Given the description of an element on the screen output the (x, y) to click on. 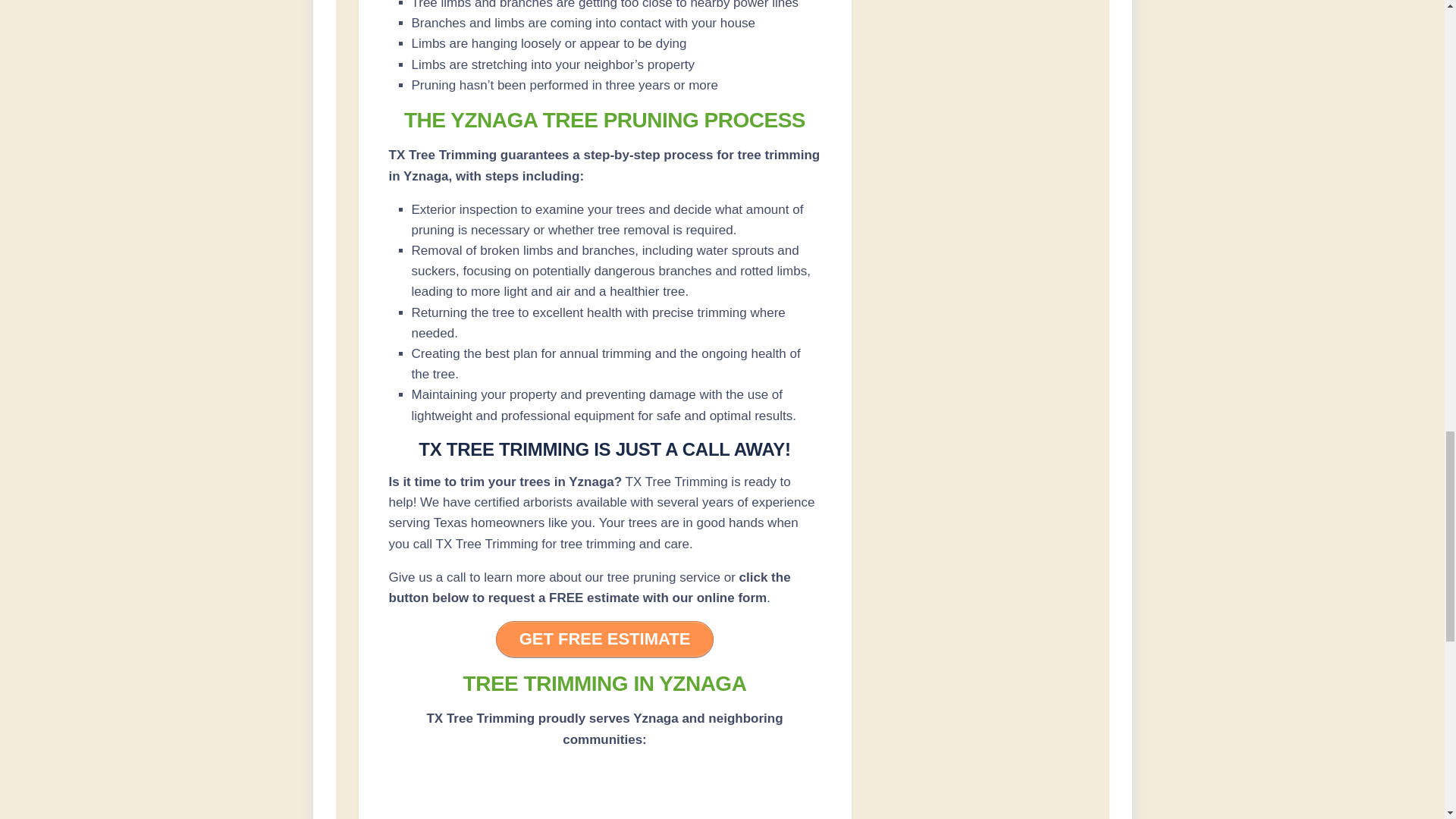
GET FREE ESTIMATE (605, 638)
